Given the description of an element on the screen output the (x, y) to click on. 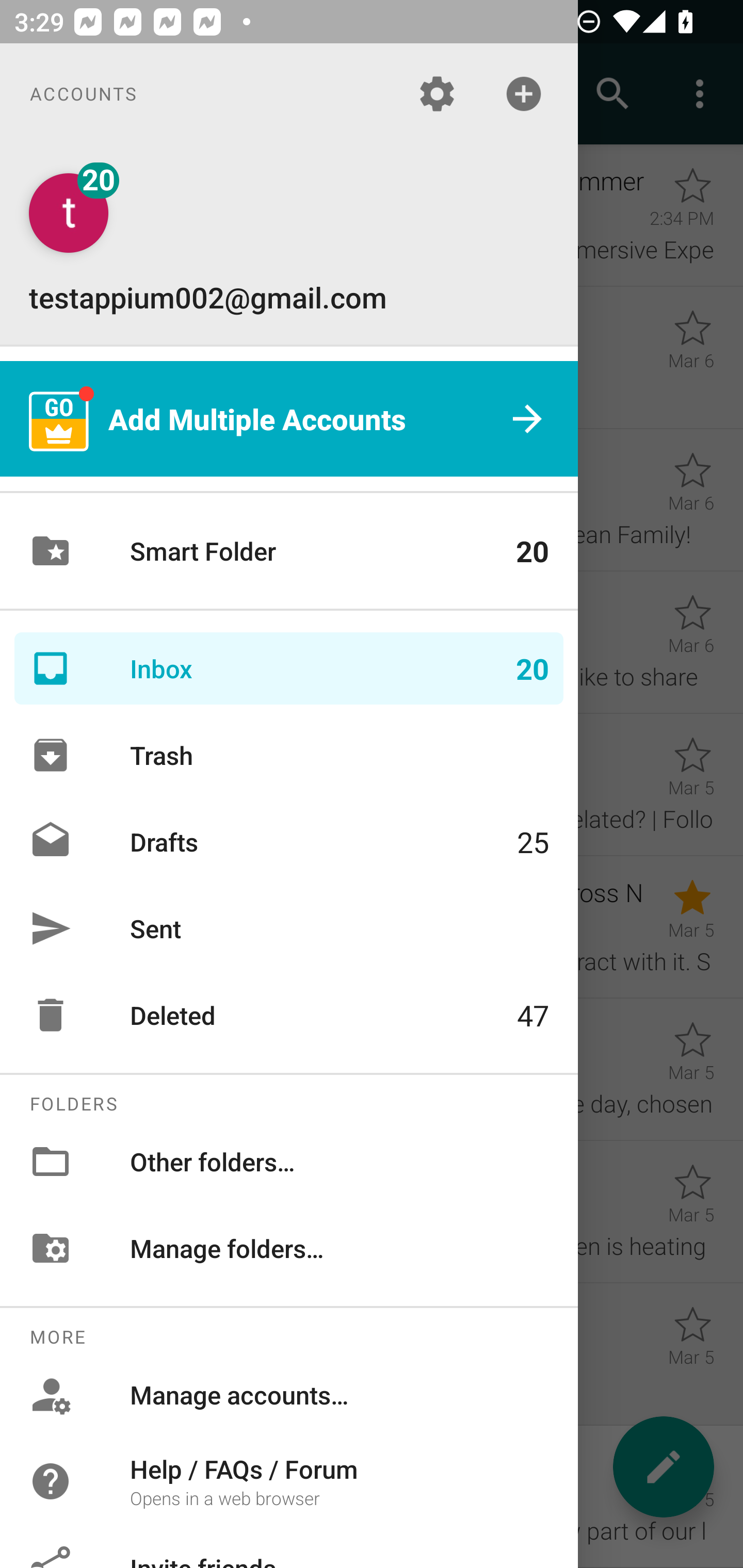
testappium002@gmail.com (289, 244)
Add Multiple Accounts (289, 418)
Smart Folder 20 (289, 551)
Inbox 20 (289, 668)
Trash (289, 754)
Drafts 25 (289, 841)
Sent (289, 928)
Deleted 47 (289, 1015)
Other folders… (289, 1160)
Manage folders… (289, 1248)
Manage accounts… (289, 1394)
Help / FAQs / Forum Opens in a web browser (289, 1480)
